Given the description of an element on the screen output the (x, y) to click on. 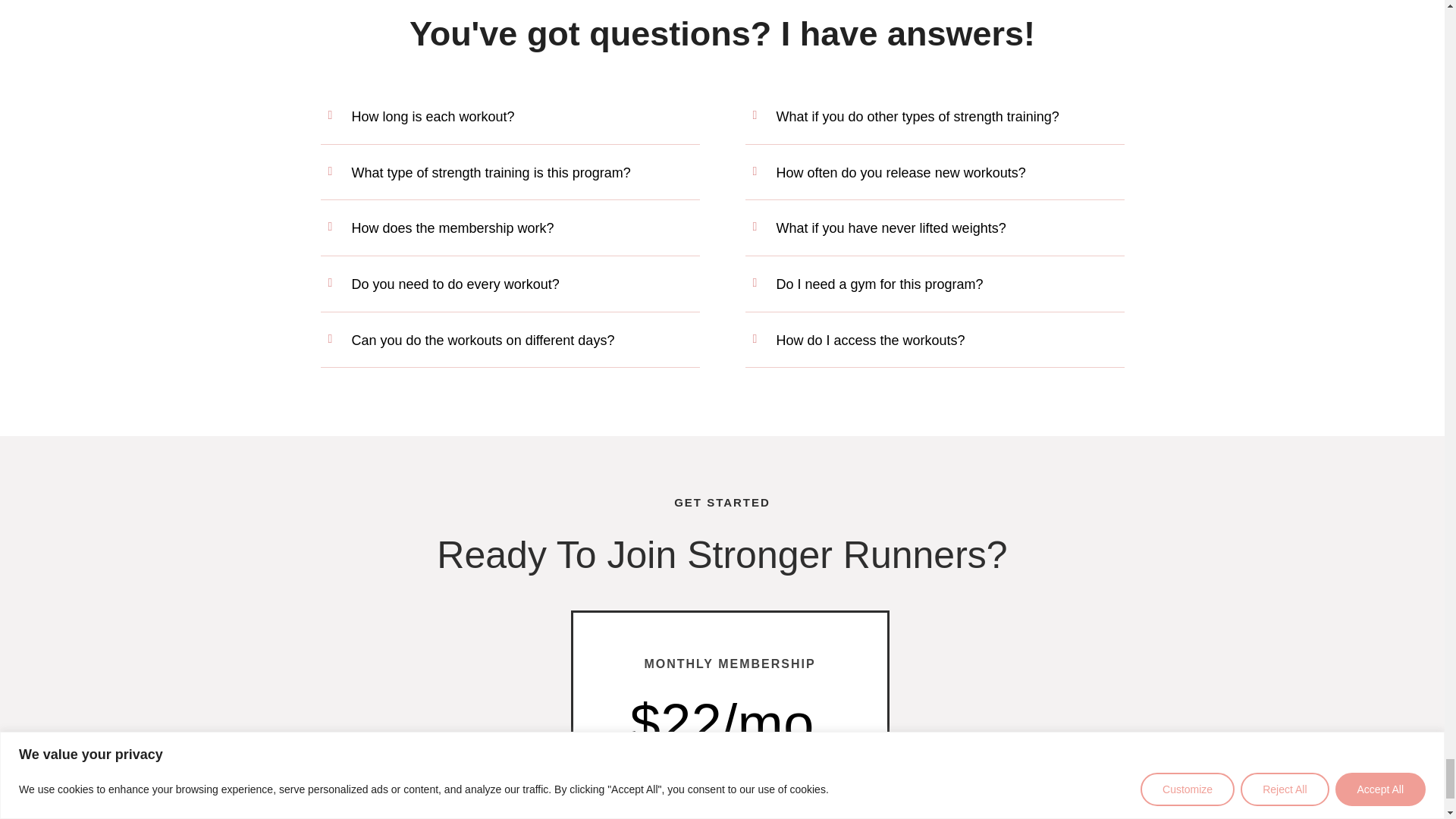
JOIN STRONGER RUNNERS (729, 814)
What type of strength training is this program? (491, 172)
Do I need a gym for this program? (880, 283)
How long is each workout? (433, 116)
What if you have never lifted weights? (891, 227)
How often do you release new workouts? (901, 172)
How does the membership work? (453, 227)
Can you do the workouts on different days? (483, 340)
Do you need to do every workout? (455, 283)
What if you do other types of strength training? (917, 116)
